Given the description of an element on the screen output the (x, y) to click on. 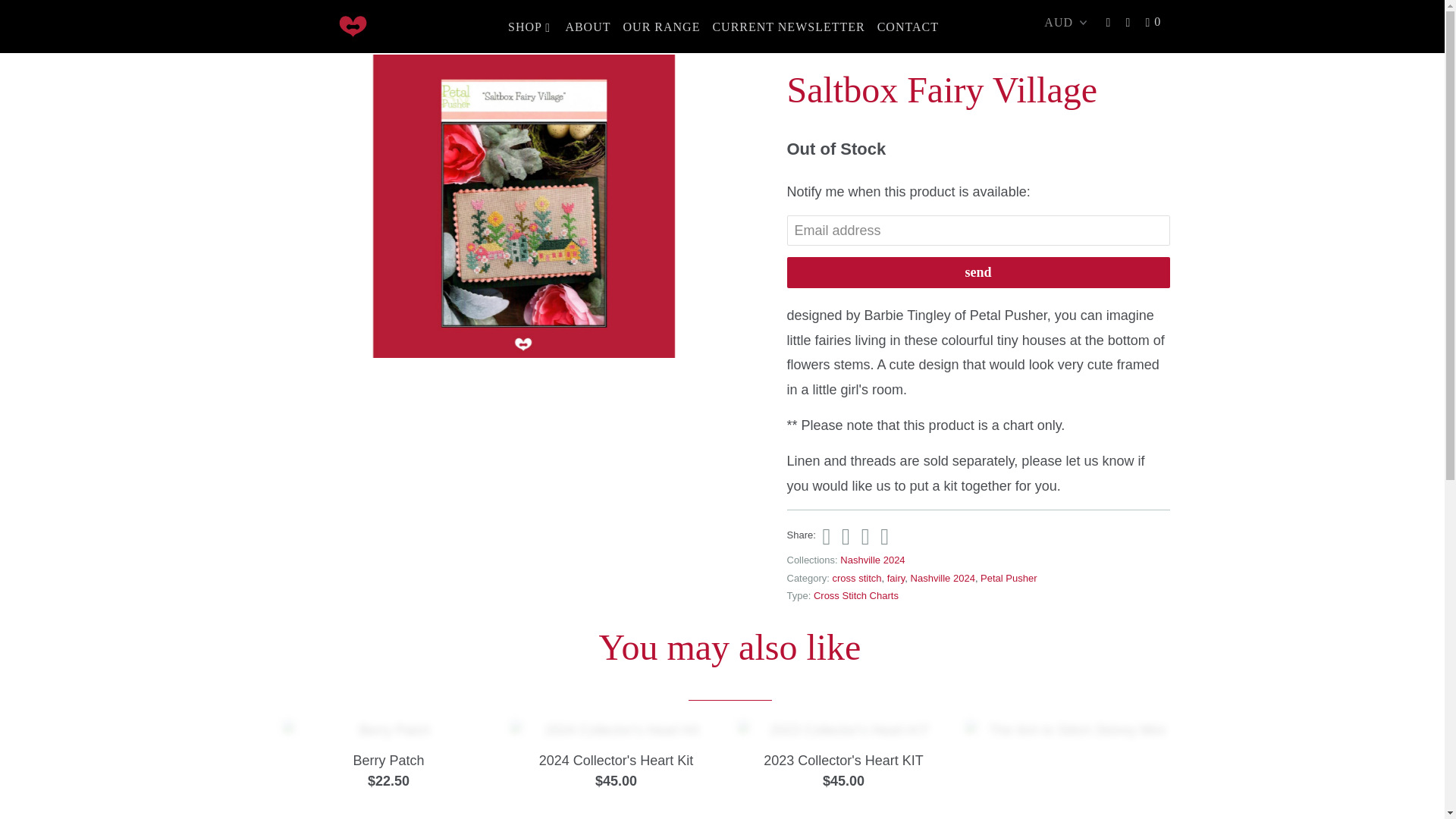
Products tagged Nashville 2024 (943, 577)
Send (978, 272)
Cross Stitch Charts (855, 595)
Products tagged fairy (895, 577)
Products tagged cross stitch (857, 577)
Nashville 2024 (872, 559)
Stitch (352, 26)
Stitch (291, 31)
Products (345, 31)
Products tagged Petal Pusher (1007, 577)
